Given the description of an element on the screen output the (x, y) to click on. 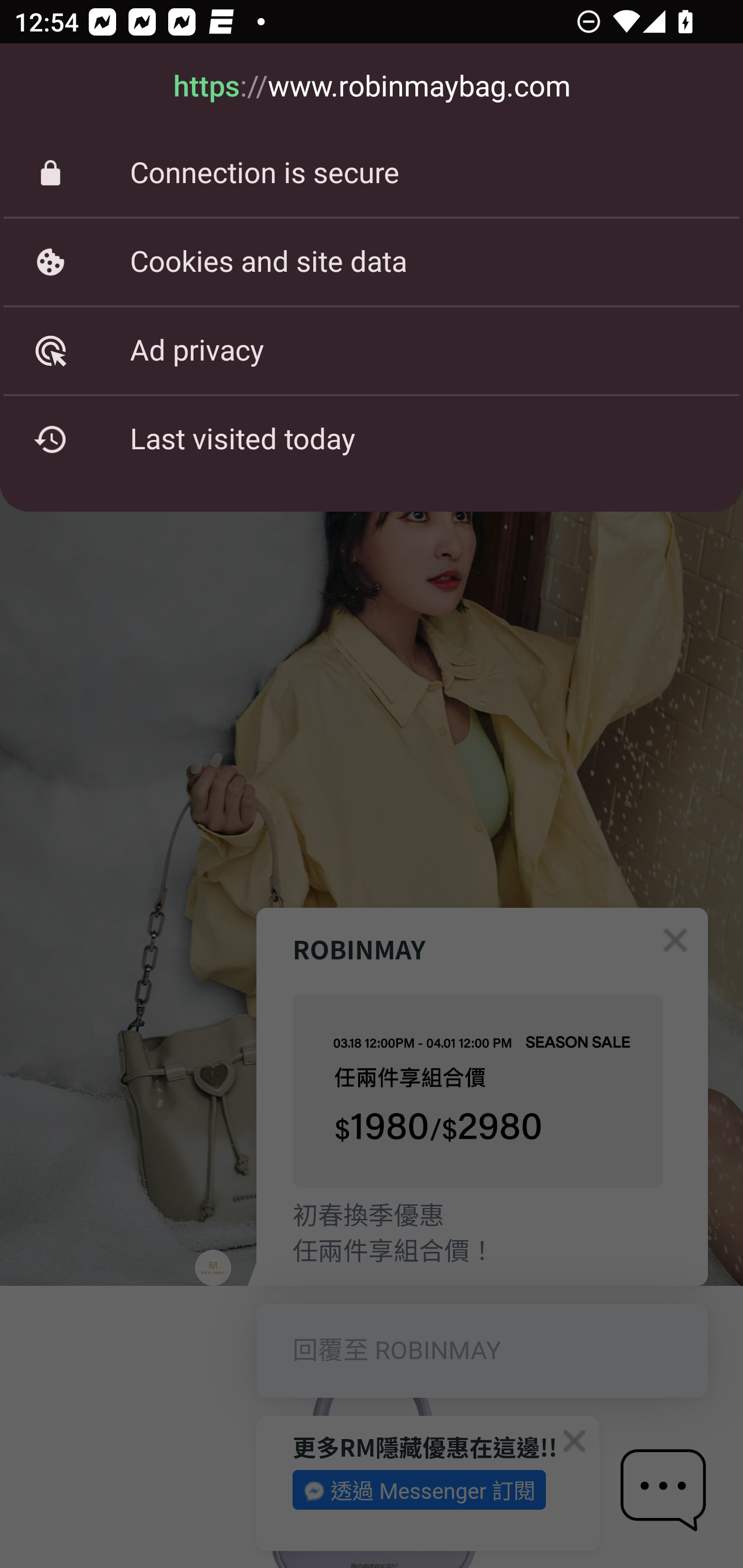
https://www.robinmaybag.com (371, 86)
Connection is secure (371, 173)
Cookies and site data (371, 261)
Ad privacy (371, 350)
Last visited today (371, 439)
